Given the description of an element on the screen output the (x, y) to click on. 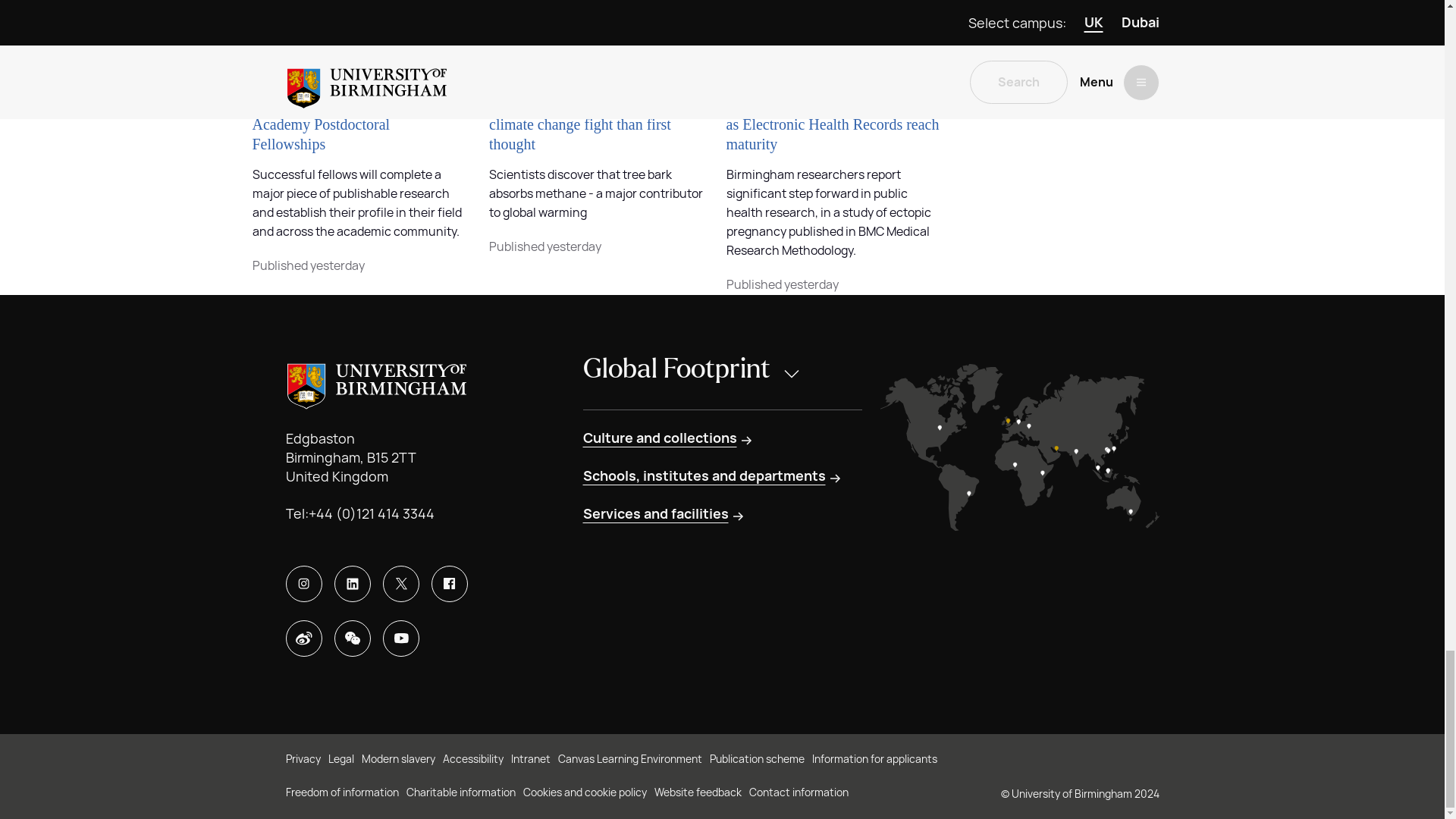
Legal (340, 760)
Culture and collections (668, 437)
Privacy (302, 760)
Services and facilities (663, 514)
Schools, institutes and departments (712, 476)
